Given the description of an element on the screen output the (x, y) to click on. 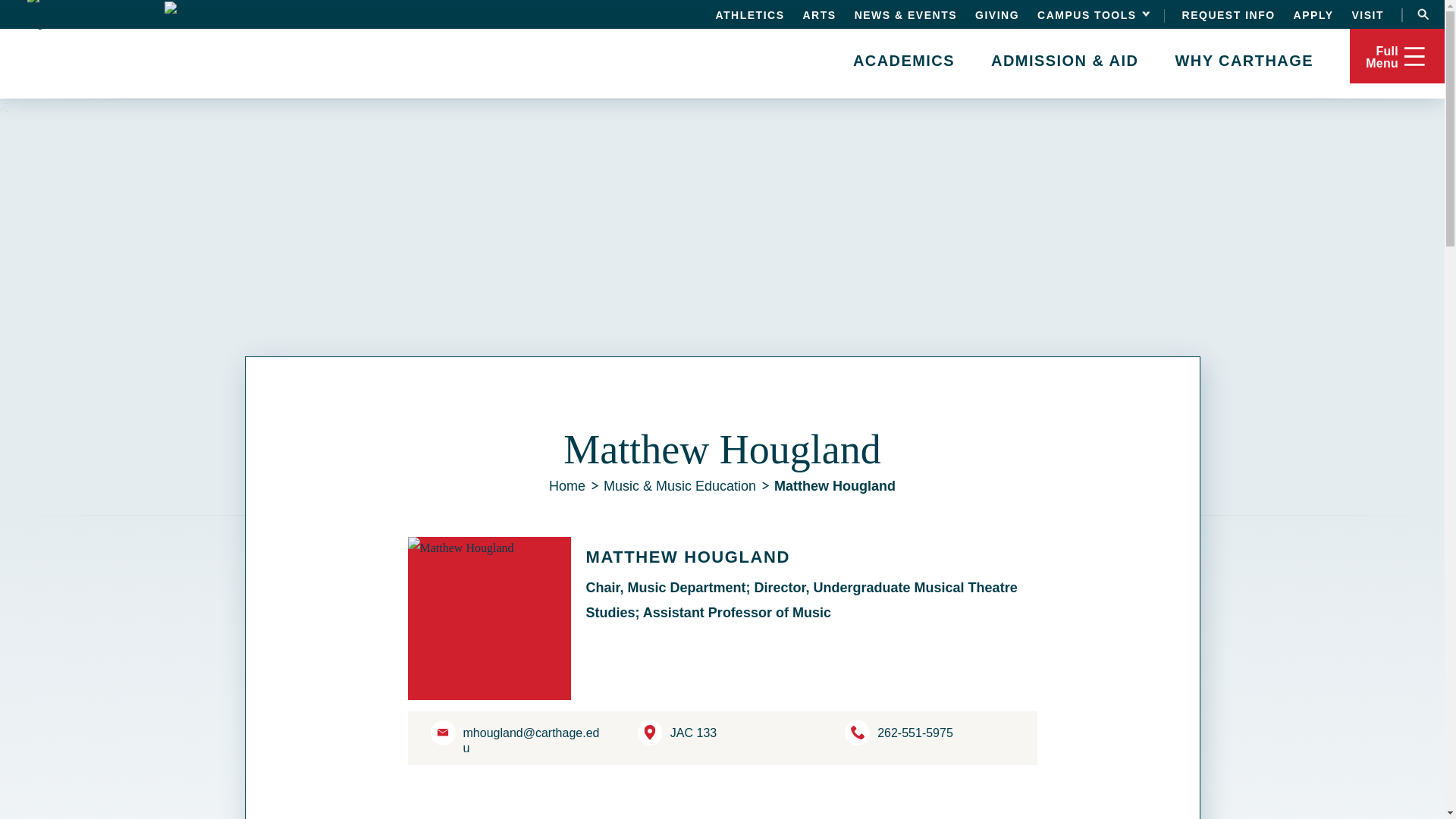
APPLY (1313, 14)
REQUEST INFO (1228, 14)
VISIT (1367, 14)
CAMPUS TOOLS (1091, 14)
WHY CARTHAGE (1243, 59)
GIVING (997, 14)
ARTS (818, 14)
ACADEMICS (904, 59)
ATHLETICS (749, 14)
Light that Travels (240, 14)
